Given the description of an element on the screen output the (x, y) to click on. 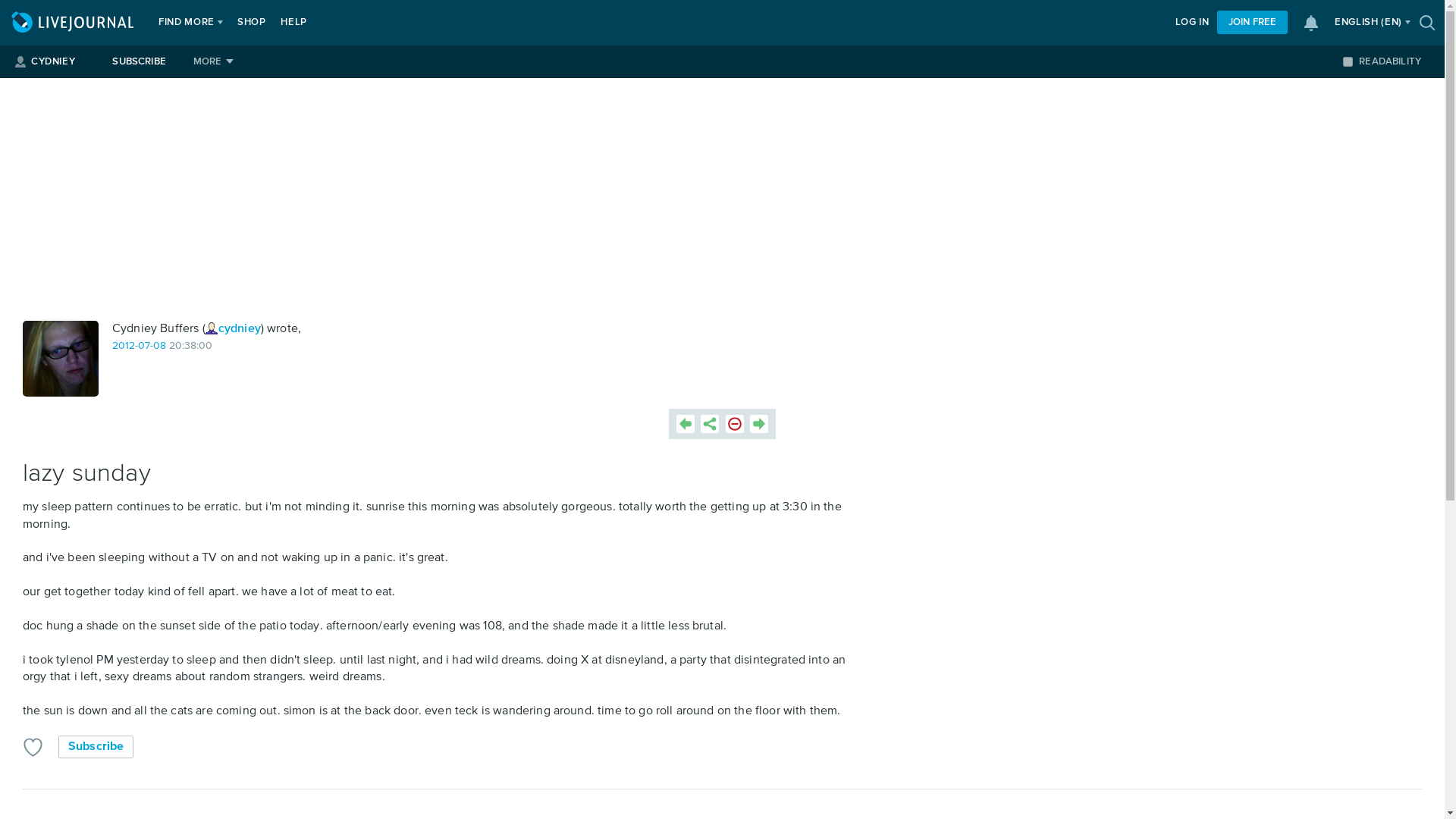
CYDNIEY (52, 61)
MORE (213, 61)
LIVEJOURNAL (73, 22)
FIND MORE (186, 22)
on (1347, 61)
SUBSCRIBE (138, 61)
Previous (685, 423)
SHOP (251, 22)
Cydniey Buffers: 2013 cyd new (61, 358)
LOG IN (1192, 22)
HELP (293, 22)
JOIN FREE (1252, 22)
